Given the description of an element on the screen output the (x, y) to click on. 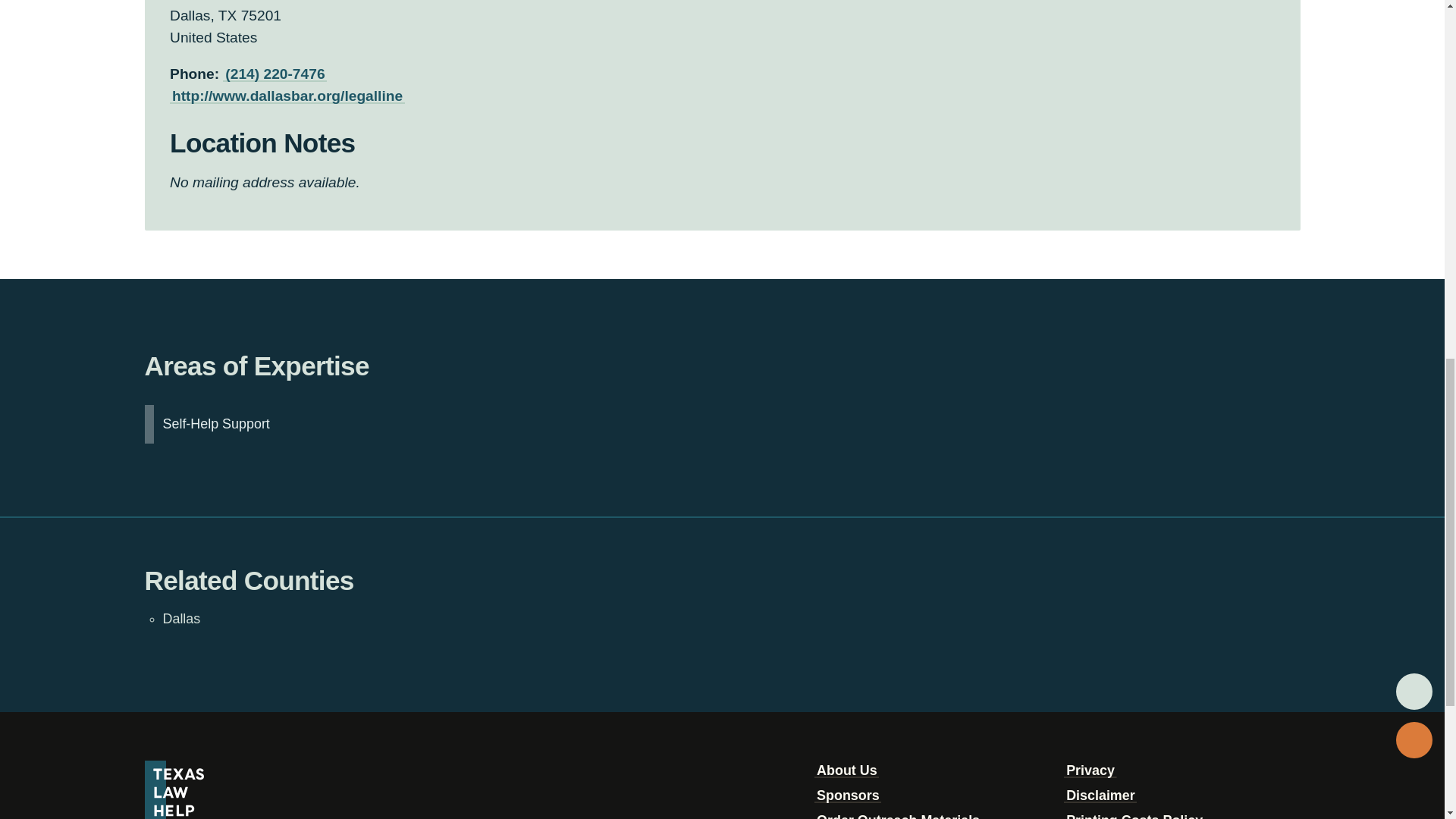
Disclaimer (1100, 795)
About Us (846, 770)
Sponsors (846, 795)
Self-Help Support (215, 423)
Privacy (1090, 770)
Order Outreach Materials (897, 816)
